Given the description of an element on the screen output the (x, y) to click on. 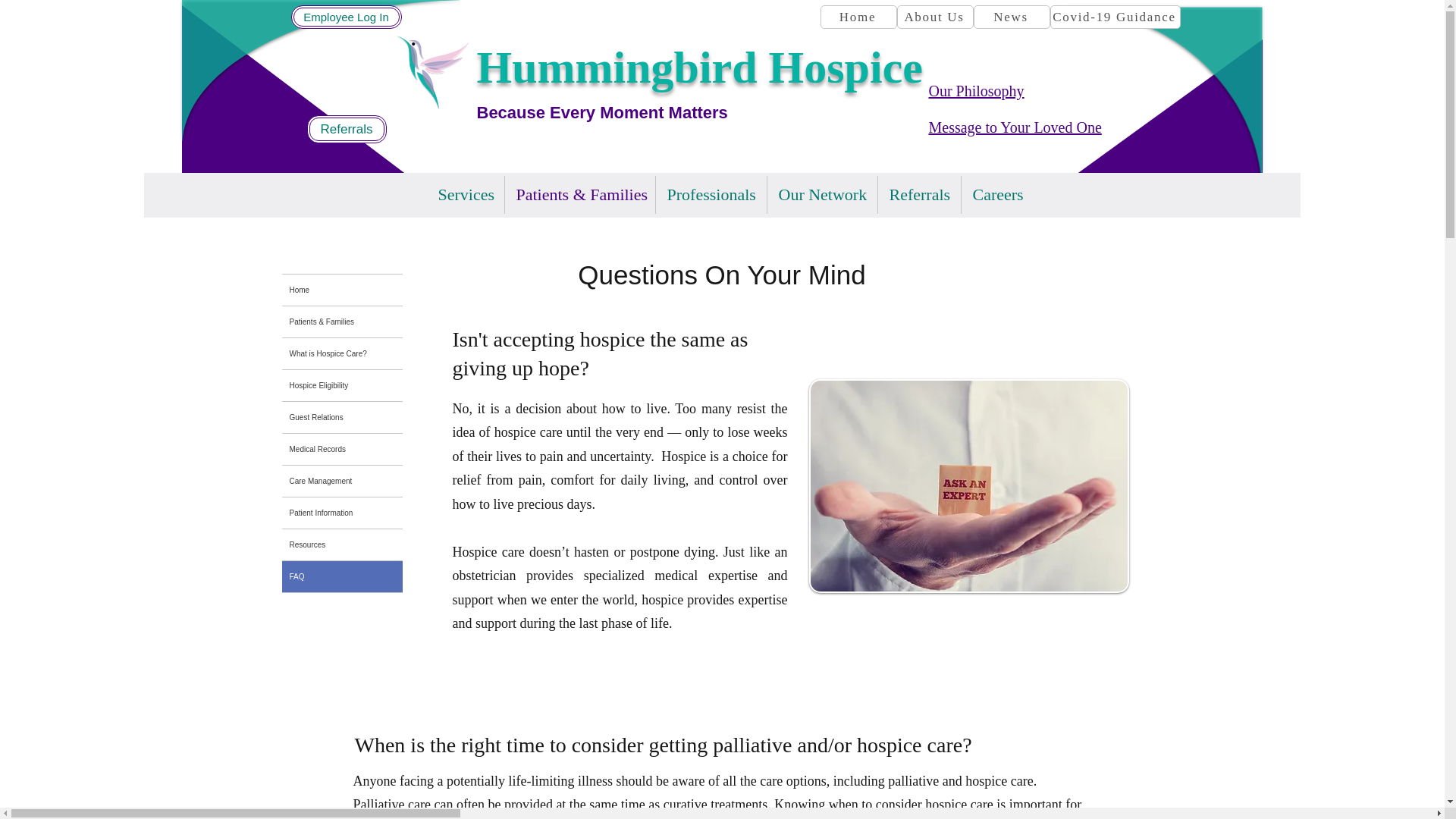
Hummingbird Hospice (698, 67)
Embedded Content (453, 96)
Our Network (822, 194)
About Us (934, 16)
Employee Log In (346, 16)
Home (858, 16)
Embedded Content (453, 100)
Services (464, 194)
Our Philosophy (975, 90)
Message to Your Loved One (1014, 126)
